Given the description of an element on the screen output the (x, y) to click on. 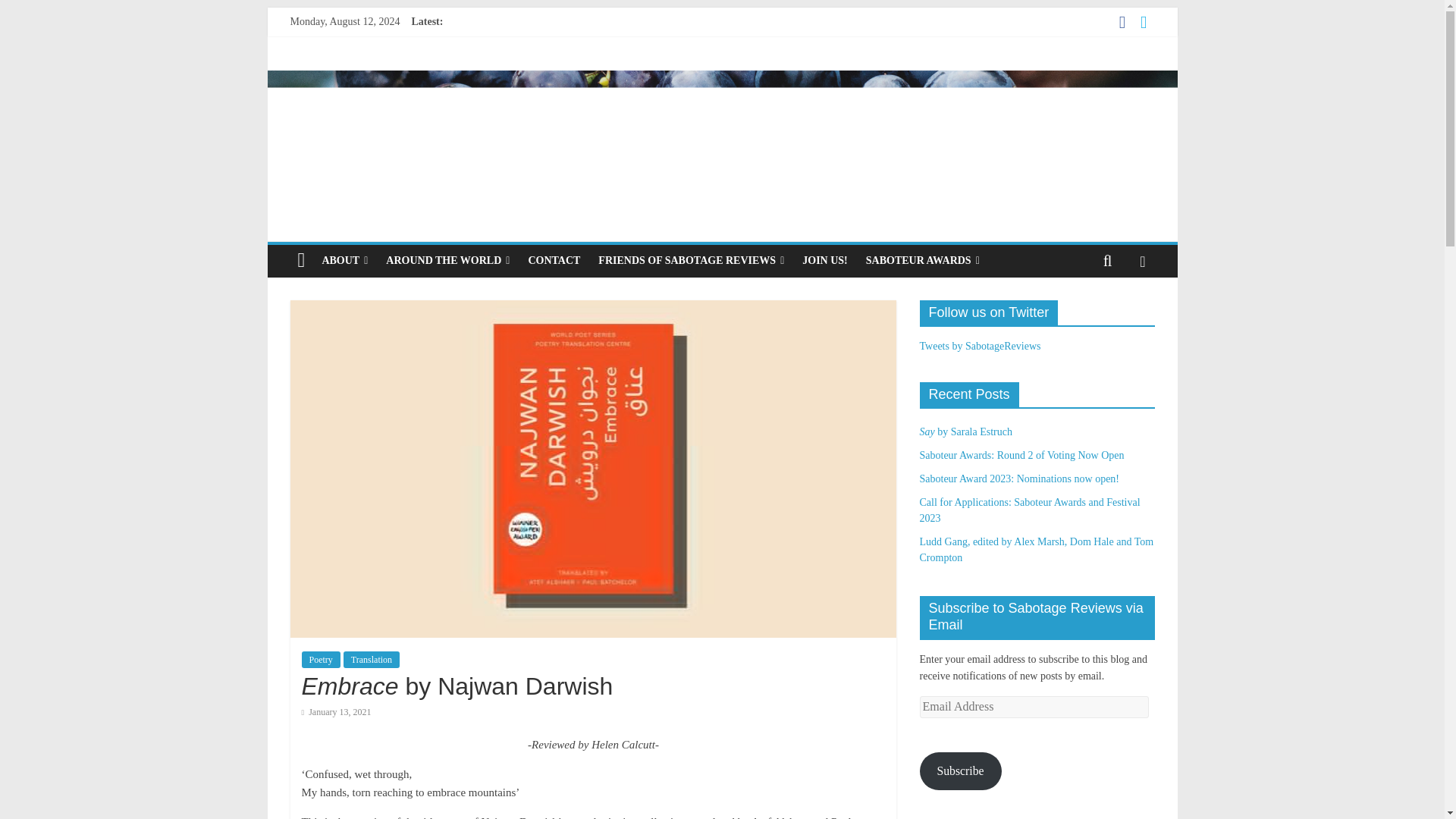
JOIN US! (825, 260)
Poetry (320, 659)
FRIENDS OF SABOTAGE REVIEWS (691, 260)
3:22 pm (336, 711)
SABOTEUR AWARDS (922, 260)
January 13, 2021 (336, 711)
AROUND THE WORLD (447, 260)
CONTACT (553, 260)
Translation (370, 659)
ABOUT (345, 260)
